Given the description of an element on the screen output the (x, y) to click on. 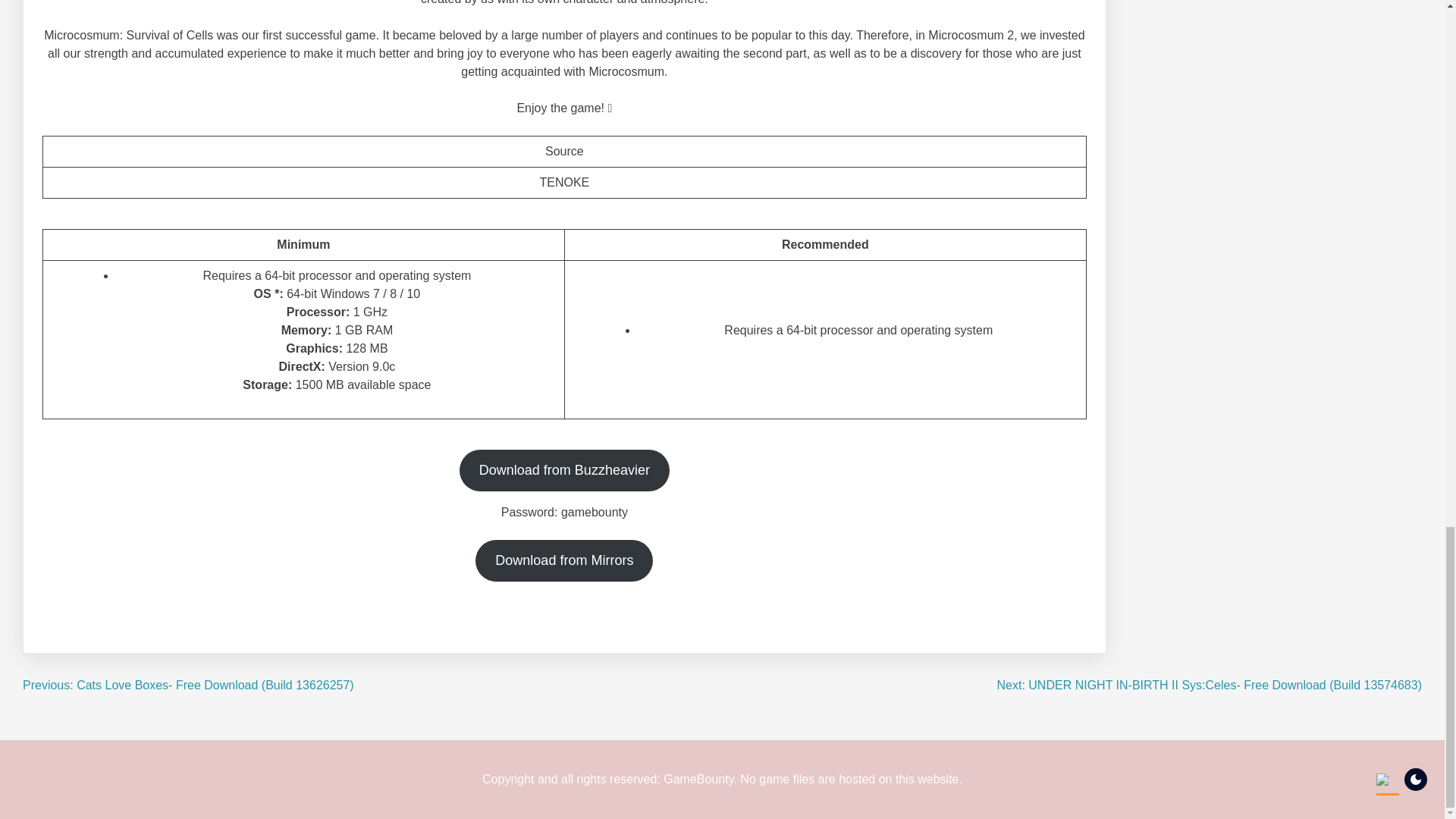
Download from Buzzheavier (564, 470)
Download from Mirrors (564, 560)
